Given the description of an element on the screen output the (x, y) to click on. 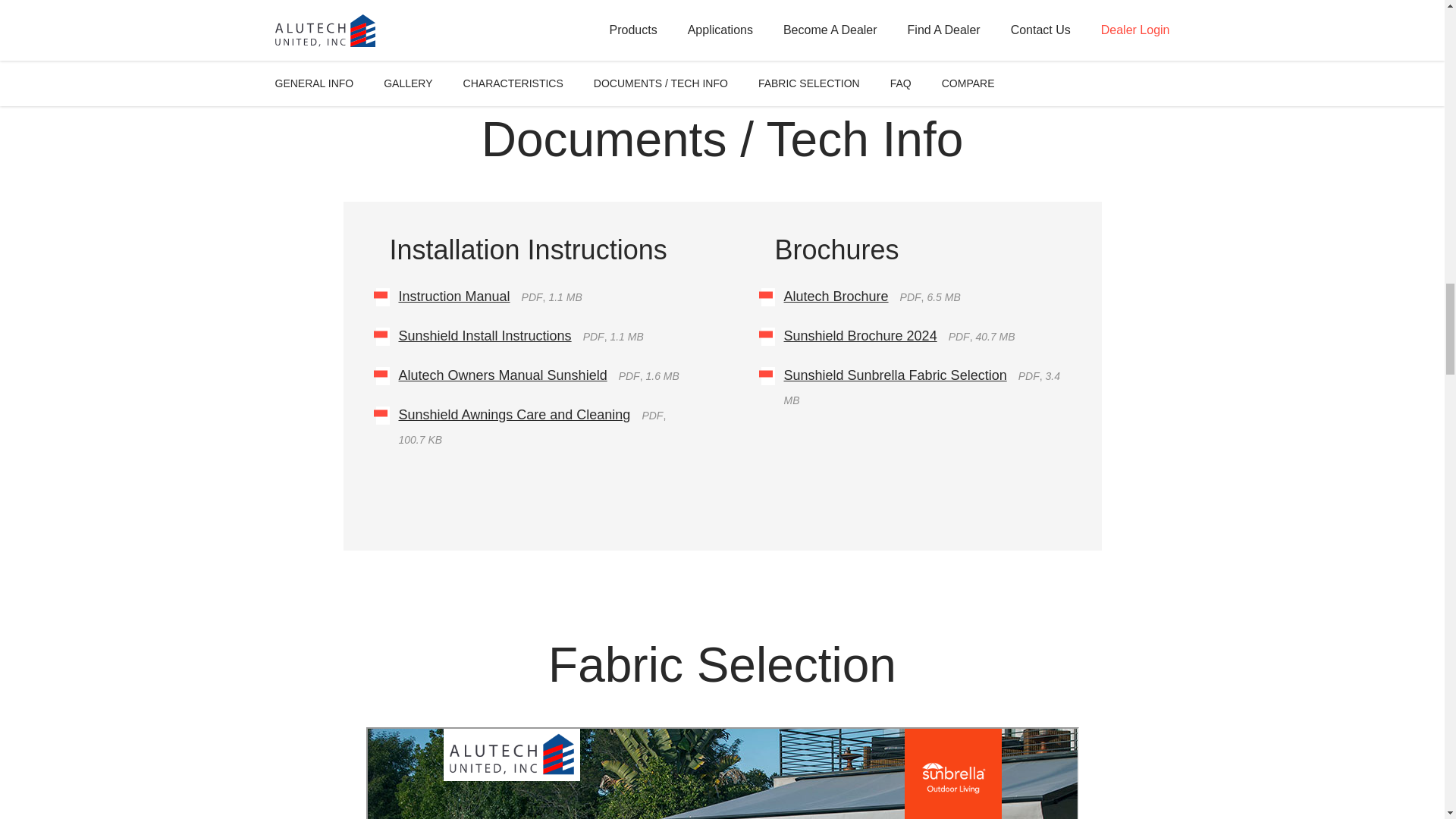
Alutech Brochure (836, 296)
Sunshield Awnings Care and Cleaning (514, 414)
Fabric Studio (721, 773)
Sunshield Install Instructions (485, 335)
Sunshield Brochure 2024 (860, 335)
Instruction Manual (454, 296)
Sunshield Sunbrella Fabric Selection (895, 375)
Sunshield Retractable Awnings - Alutech United (721, 12)
Alutech Owners Manual Sunshield (502, 375)
